Given the description of an element on the screen output the (x, y) to click on. 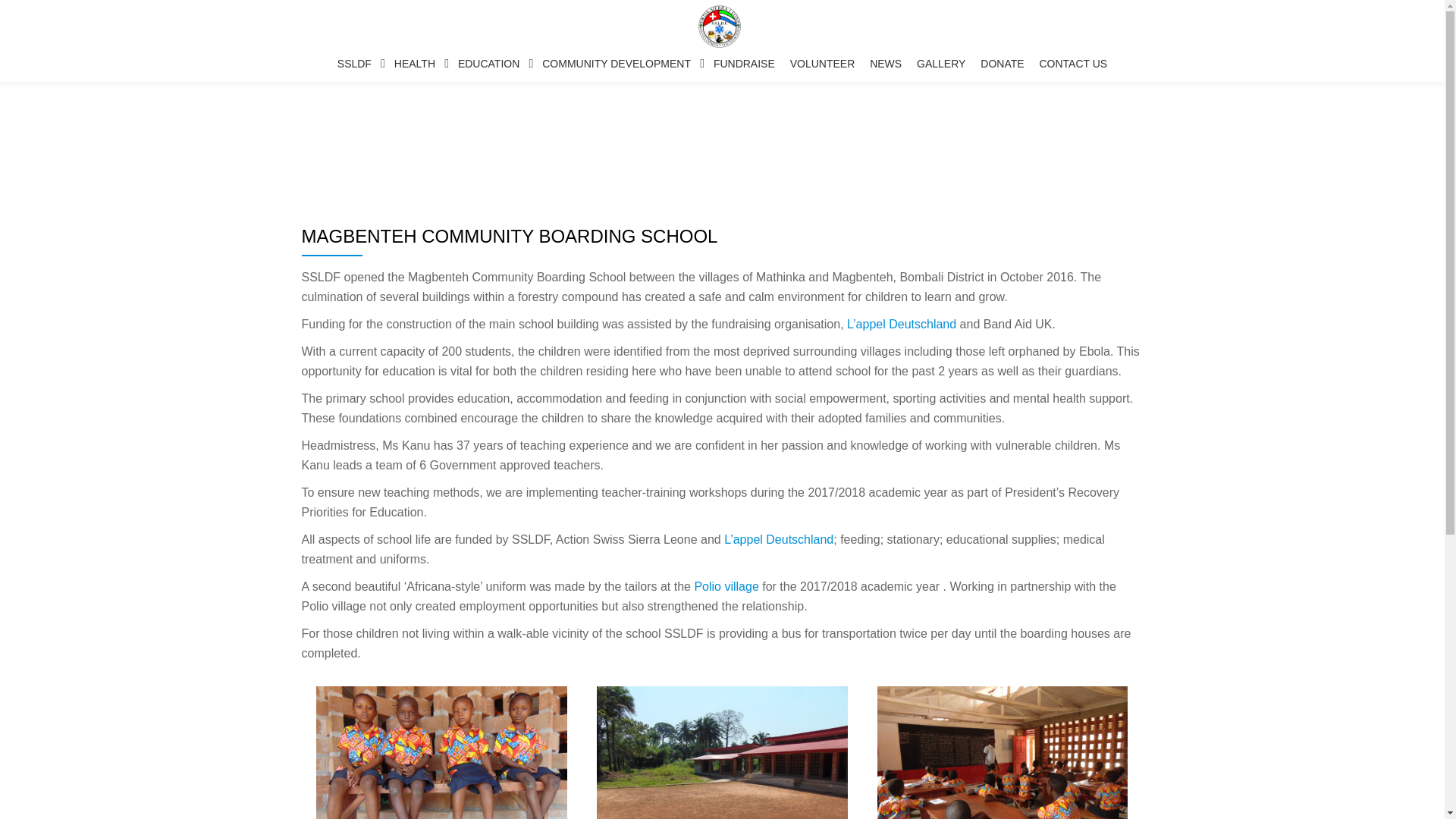
FUNDRAISE (743, 63)
CONTACT US (1072, 63)
Polio village (726, 585)
HEALTH (418, 63)
VOLUNTEER (822, 63)
SSLDF (721, 26)
EDUCATION (491, 63)
COMMUNITY DEVELOPMENT (619, 63)
GALLERY (941, 63)
DONATE (1001, 63)
